Given the description of an element on the screen output the (x, y) to click on. 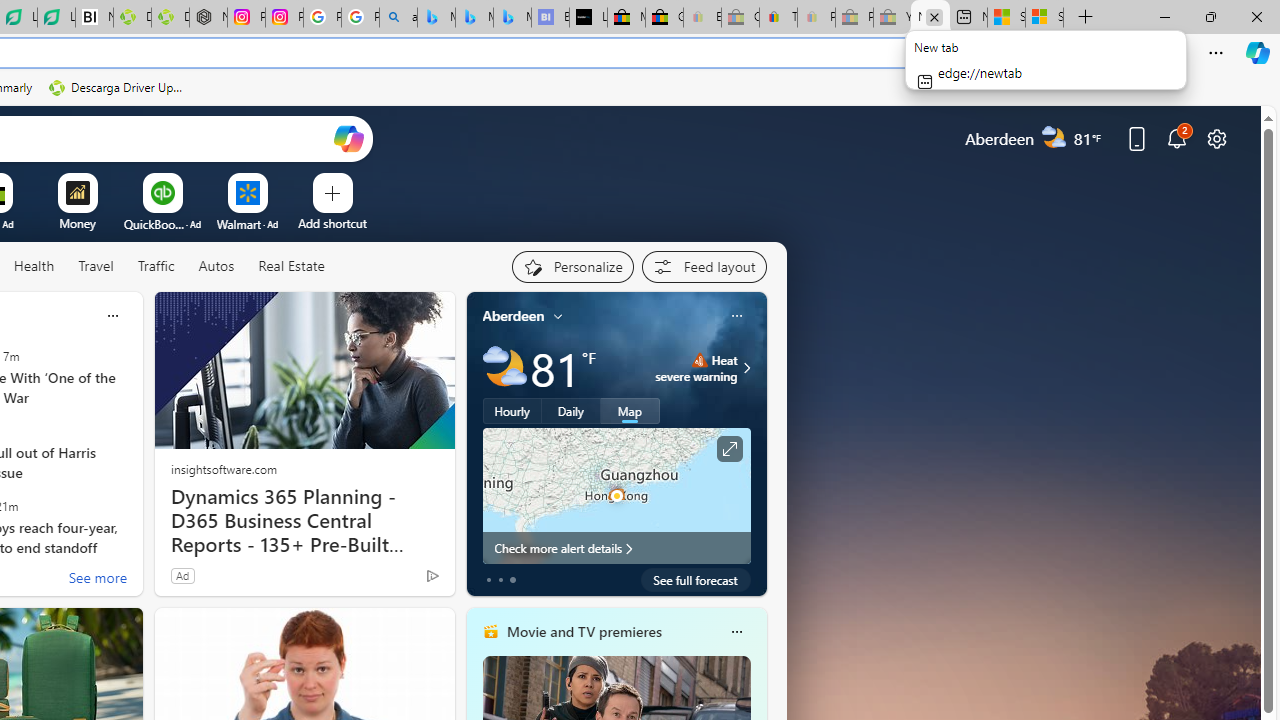
Personalize your feed" (571, 266)
Page settings (1216, 138)
Notifications (1176, 138)
Autos (215, 265)
Click to see more information (728, 449)
alabama high school quarterback dies - Search (398, 17)
Travel (95, 265)
Yard, Garden & Outdoor Living - Sleeping (892, 17)
Nvidia va a poner a prueba la paciencia de los inversores (93, 17)
Ad (182, 575)
